Given the description of an element on the screen output the (x, y) to click on. 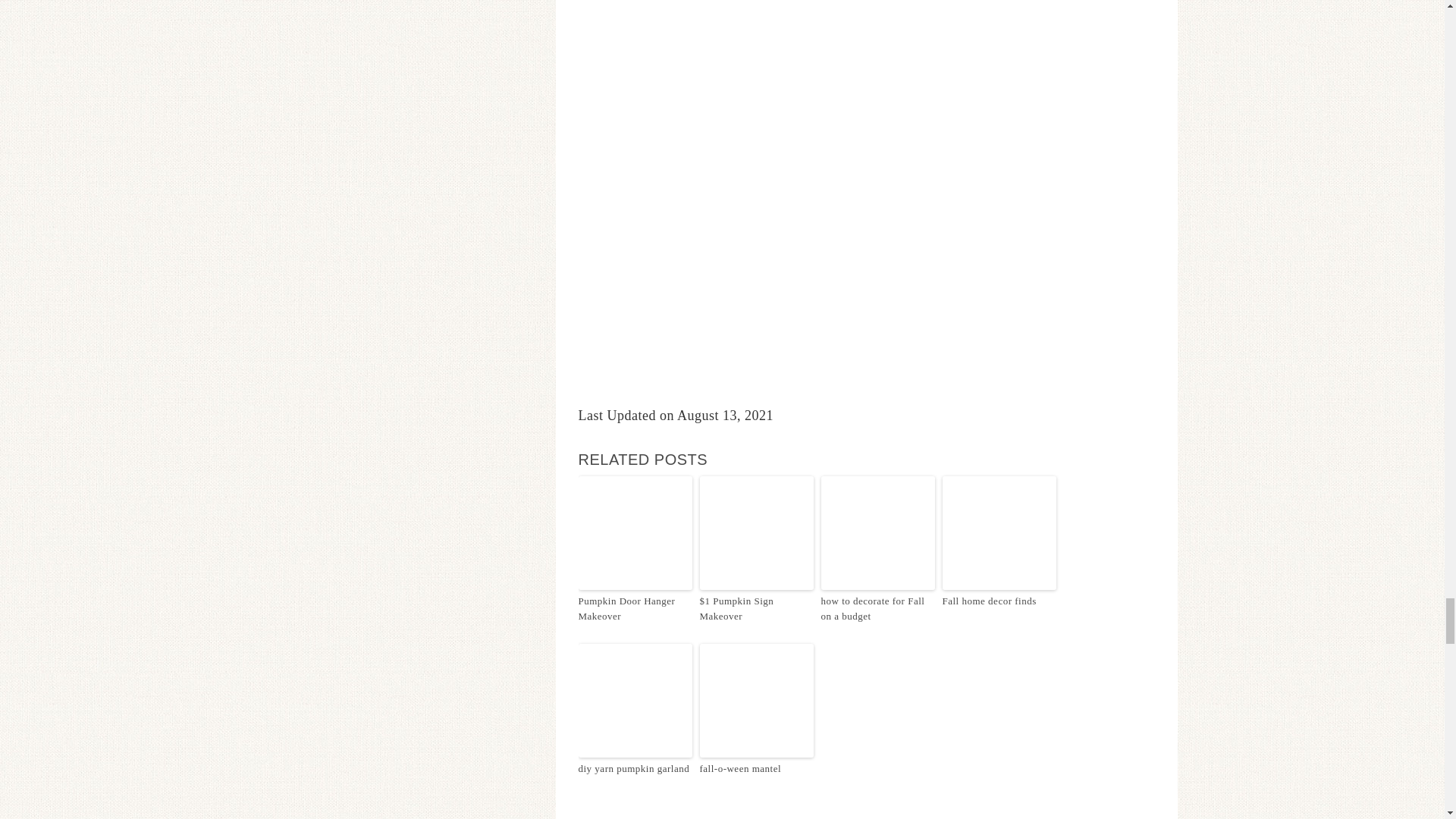
follow on instagram (866, 171)
youtube (866, 374)
diy-yarn-pumpkin-banner-for-fall-13 (634, 700)
Share on Facebook (586, 806)
Pin it! (608, 806)
